Given the description of an element on the screen output the (x, y) to click on. 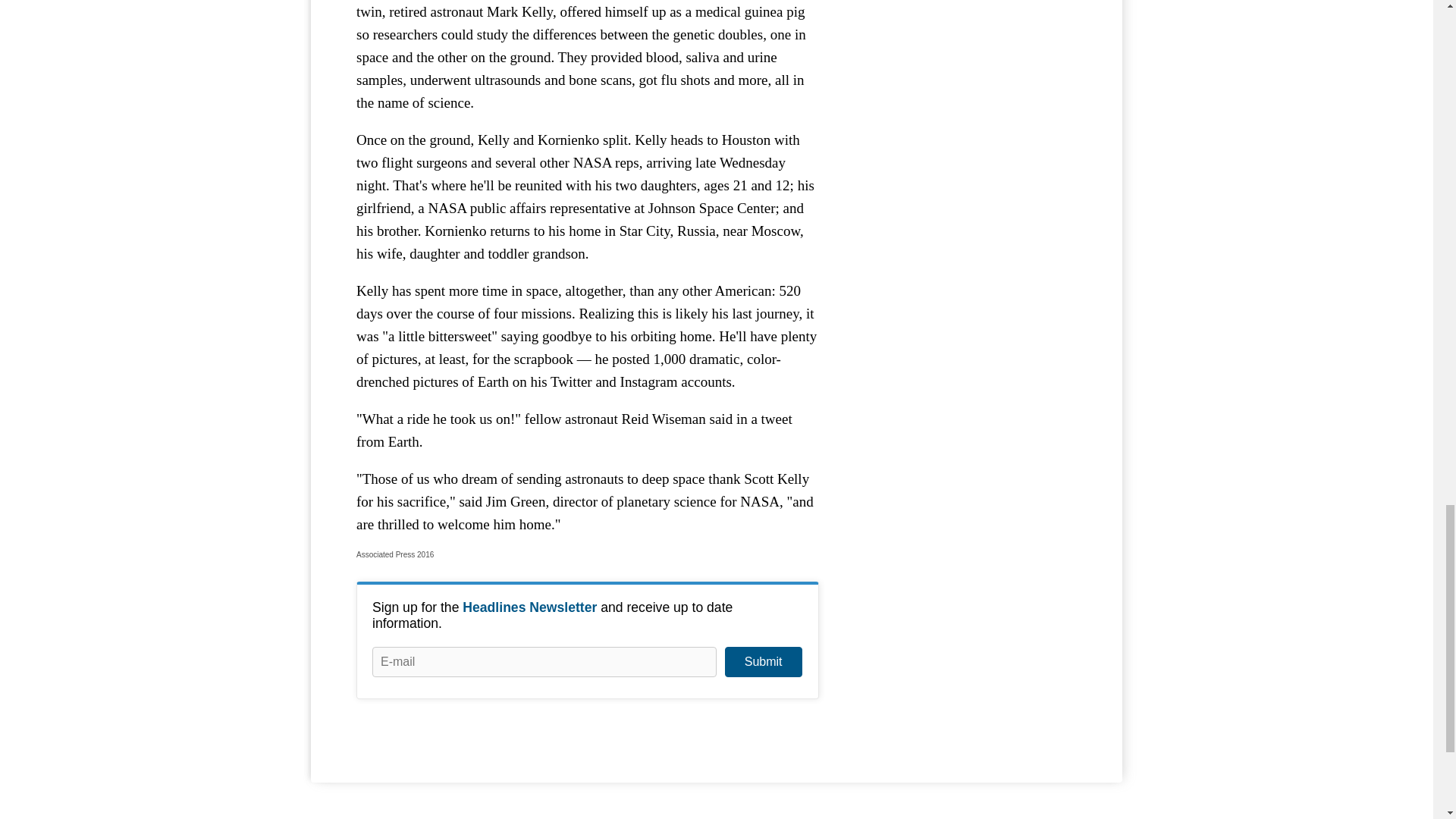
Submit (763, 662)
